Given the description of an element on the screen output the (x, y) to click on. 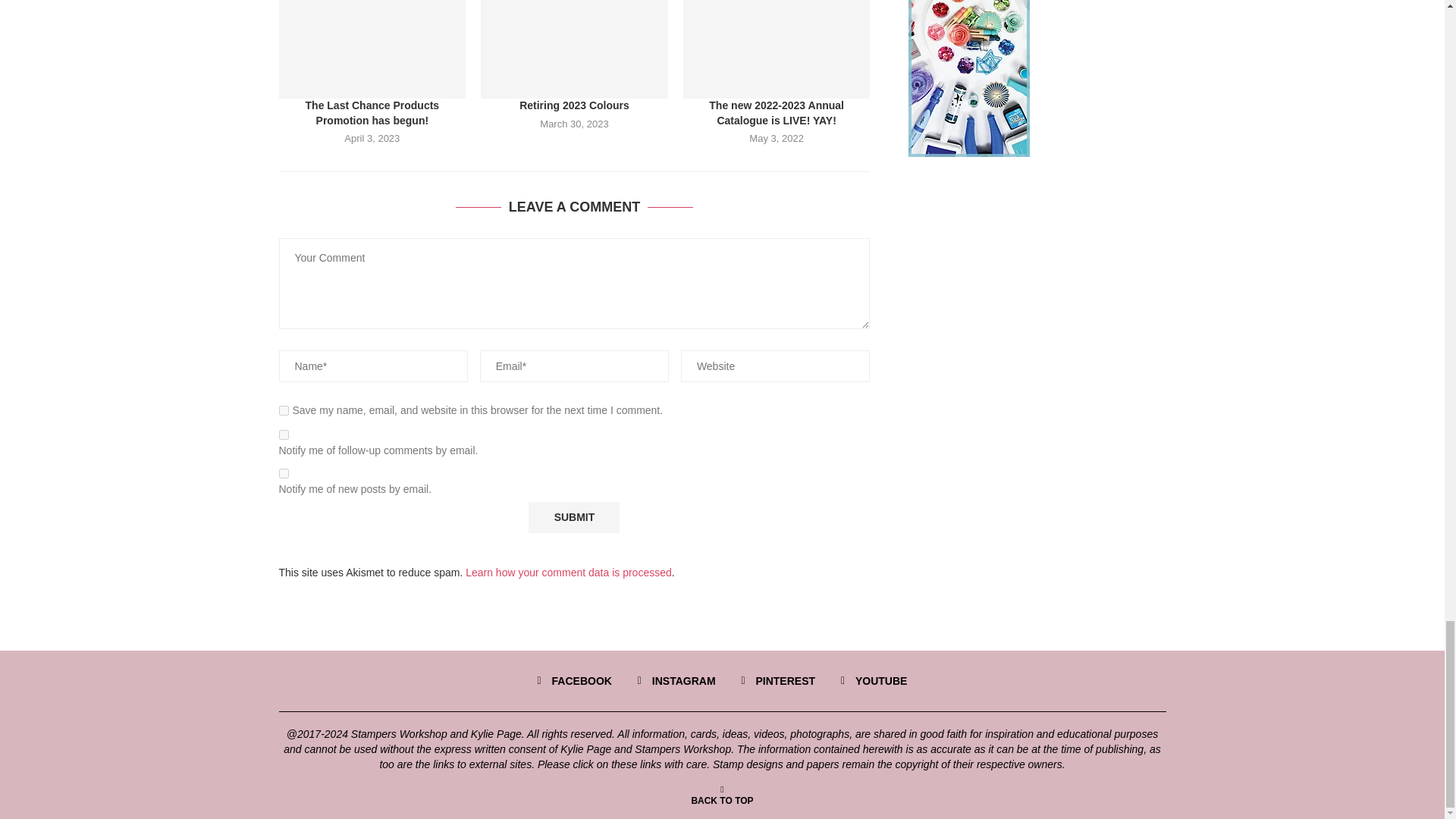
Retiring 2023 Colours (574, 48)
The Last Chance Products Promotion has begun! (372, 48)
Submit (574, 517)
subscribe (283, 473)
subscribe (283, 434)
The new 2022-2023 Annual Catalogue is LIVE! YAY! (776, 48)
yes (283, 410)
